Given the description of an element on the screen output the (x, y) to click on. 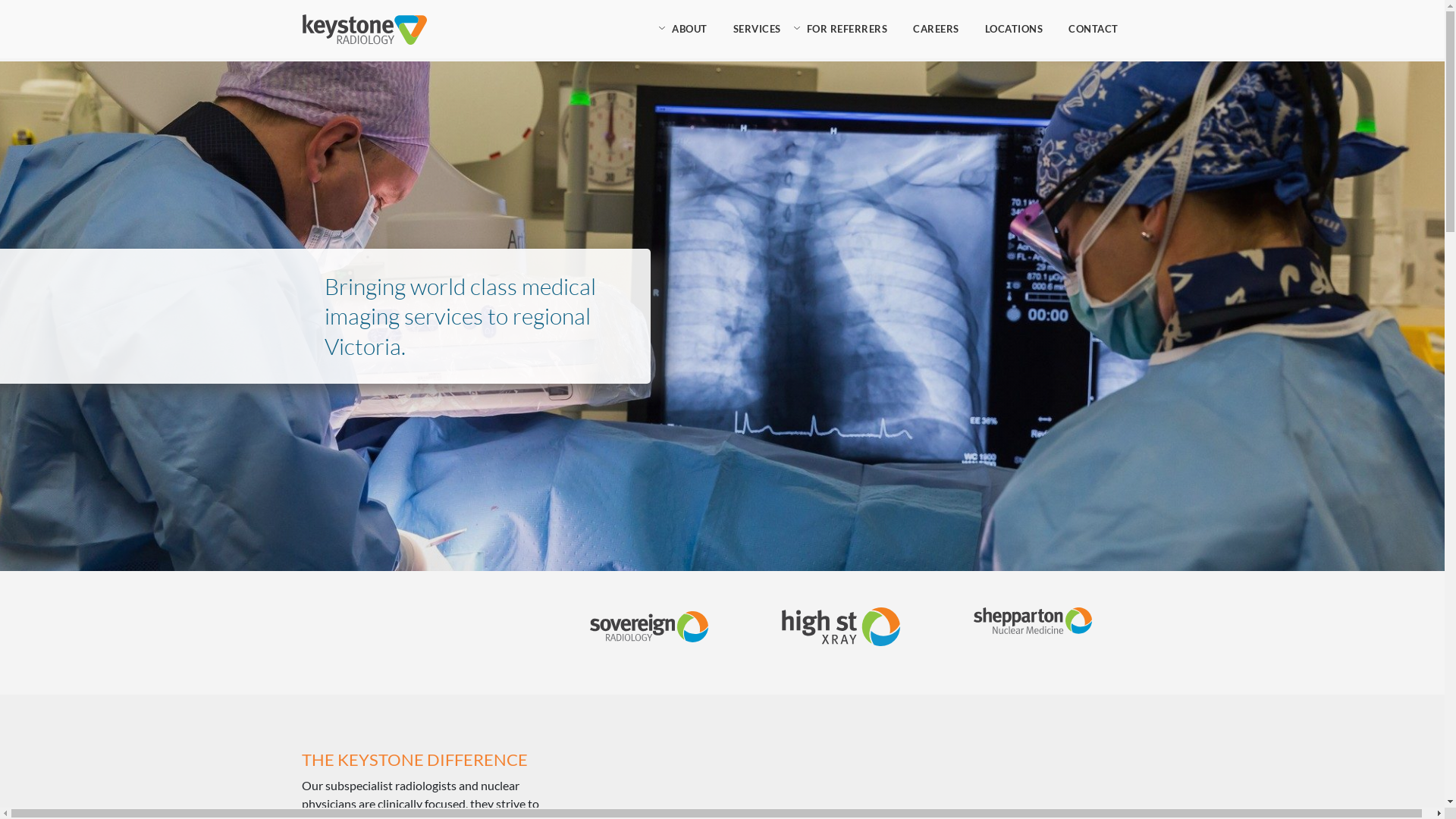
ABOUT Element type: text (689, 28)
CONTACT Element type: text (1093, 28)
SERVICES Element type: text (756, 28)
LOCATIONS Element type: text (1014, 28)
Keystone Radiology Group Element type: hover (363, 29)
CAREERS Element type: text (936, 28)
FOR REFERRERS Element type: text (846, 28)
